Given the description of an element on the screen output the (x, y) to click on. 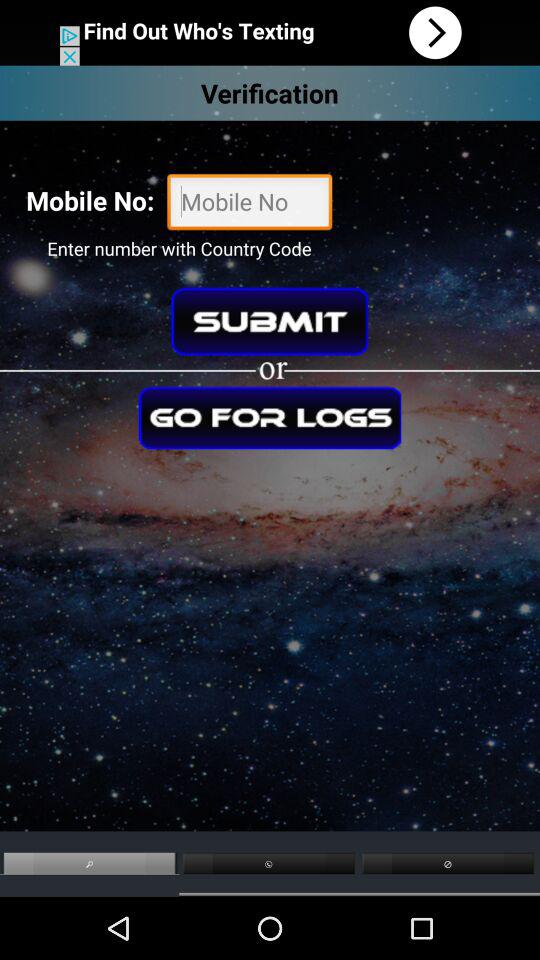
submit your response (269, 321)
